Given the description of an element on the screen output the (x, y) to click on. 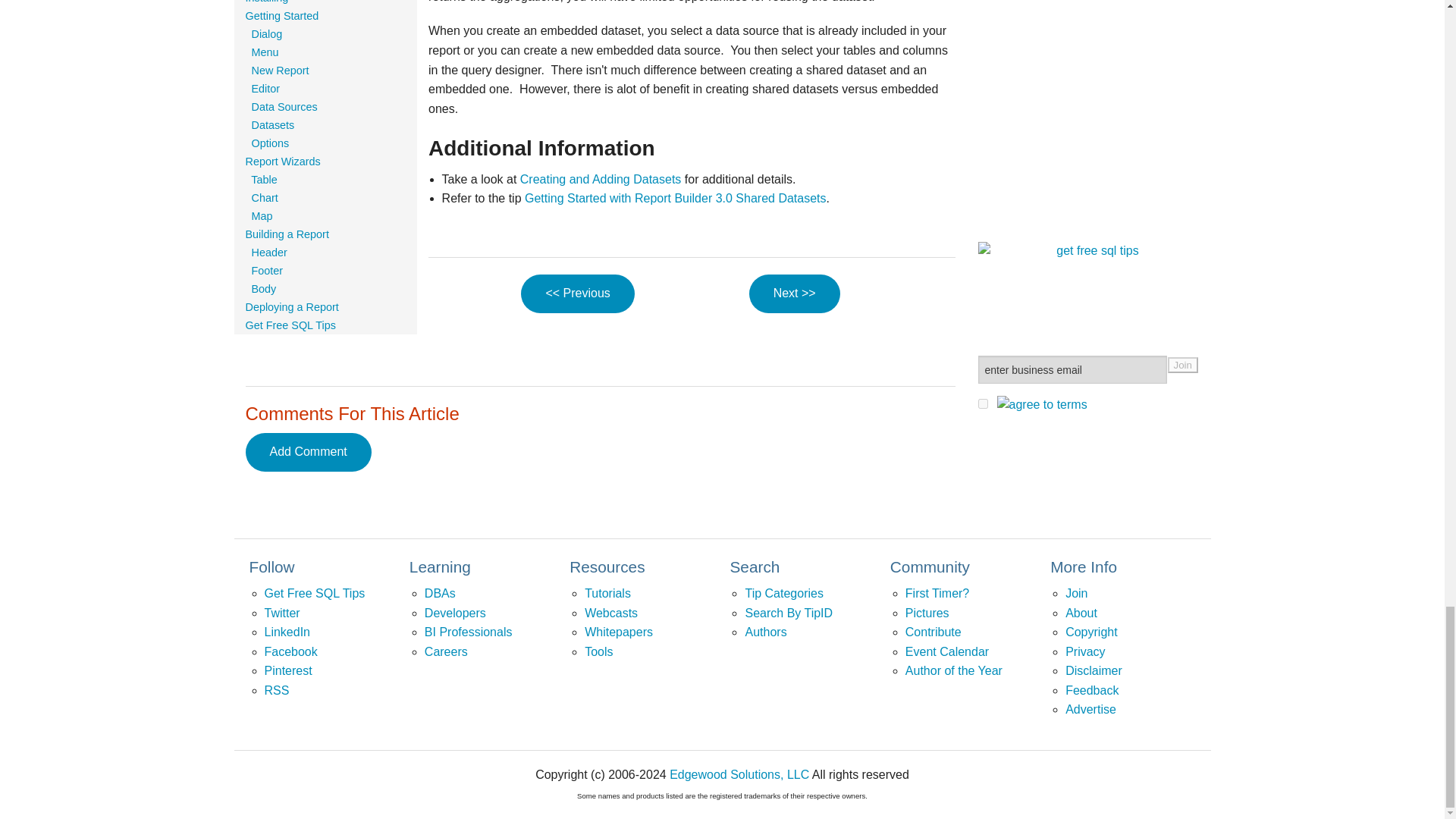
next (794, 293)
previous (577, 293)
